Given the description of an element on the screen output the (x, y) to click on. 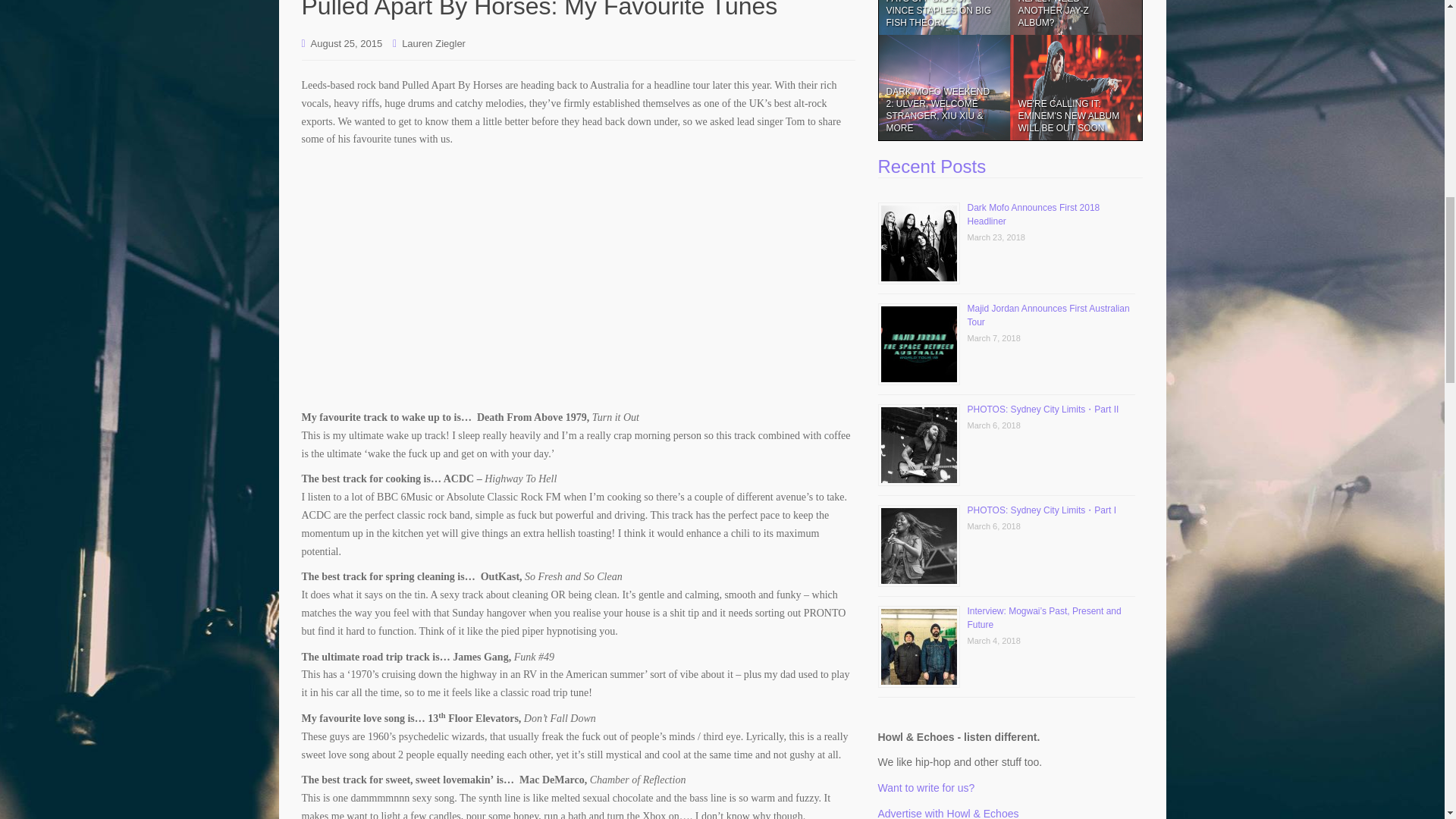
August 25, 2015 (346, 43)
Lauren Ziegler (433, 43)
